Given the description of an element on the screen output the (x, y) to click on. 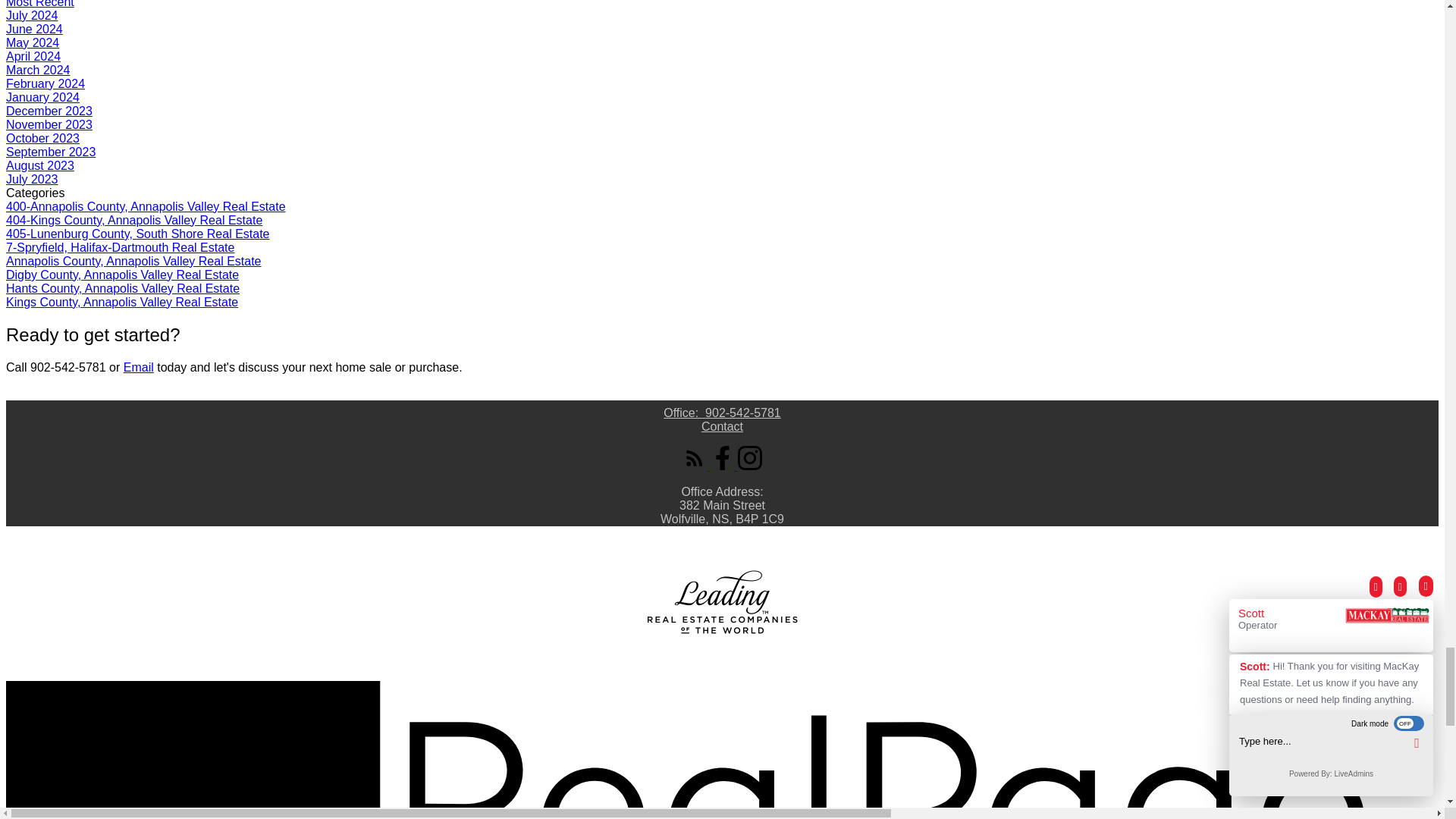
June 2024 (33, 29)
May 2024 (32, 42)
April 2024 (33, 56)
Most Recent (39, 4)
July 2024 (31, 15)
February 2024 (44, 83)
March 2024 (37, 69)
January 2024 (42, 97)
